Given the description of an element on the screen output the (x, y) to click on. 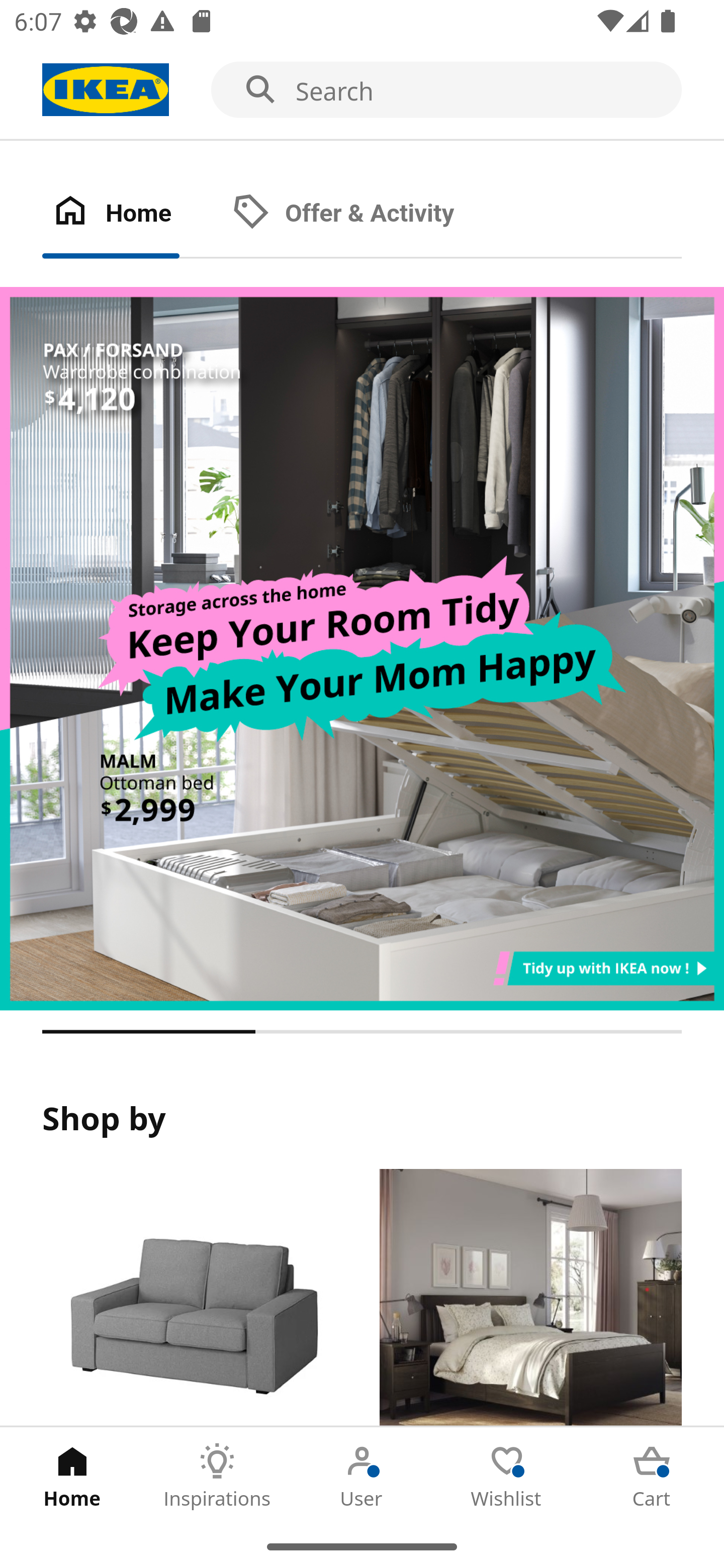
Search (361, 90)
Home
Tab 1 of 2 (131, 213)
Offer & Activity
Tab 2 of 2 (363, 213)
Products (192, 1297)
Rooms (530, 1297)
Home
Tab 1 of 5 (72, 1476)
Inspirations
Tab 2 of 5 (216, 1476)
User
Tab 3 of 5 (361, 1476)
Wishlist
Tab 4 of 5 (506, 1476)
Cart
Tab 5 of 5 (651, 1476)
